Given the description of an element on the screen output the (x, y) to click on. 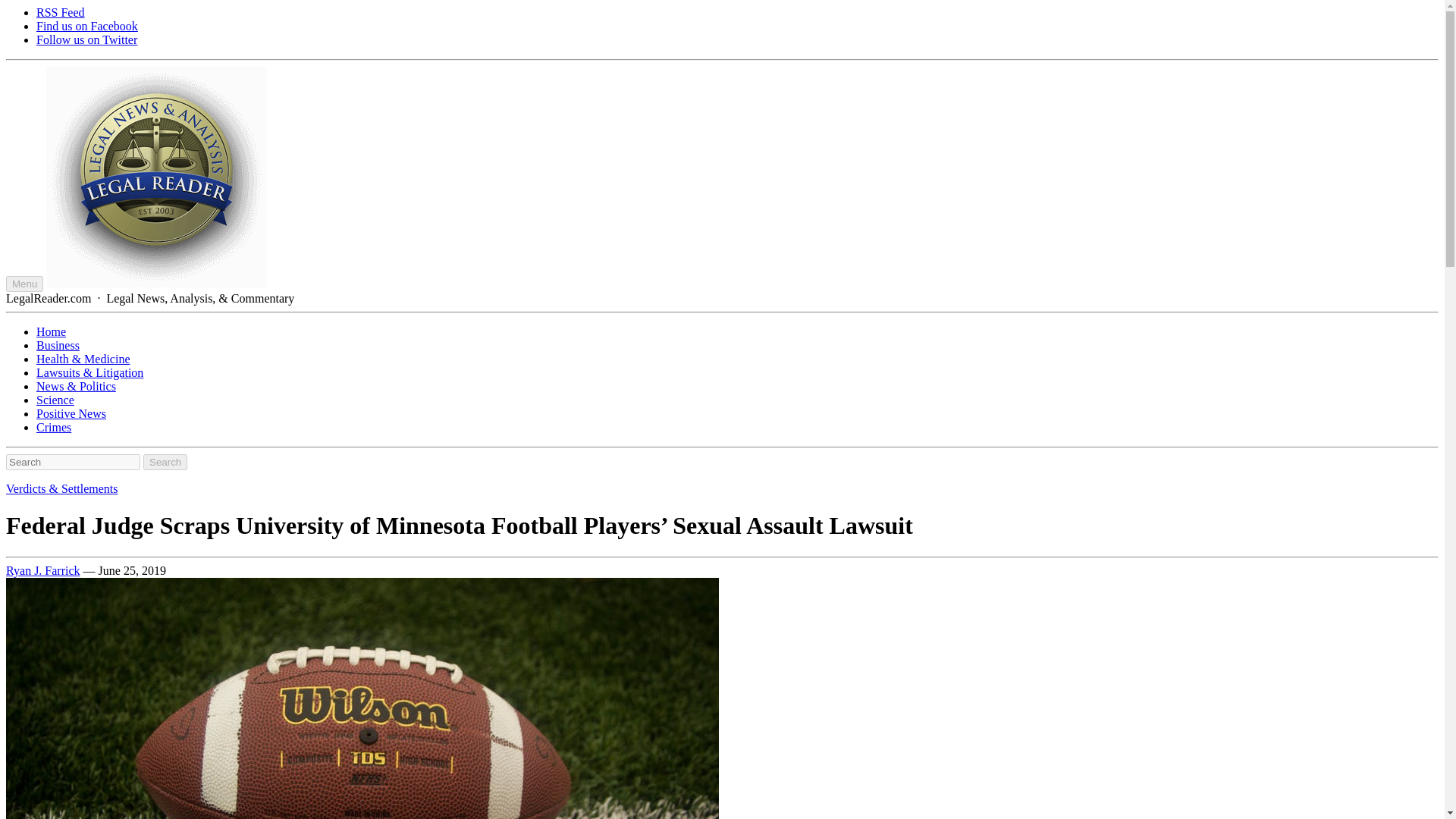
Follow us on Twitter (86, 39)
Menu (24, 283)
Search (164, 462)
Positive News (71, 413)
Follow Legal Reader on Twitter (86, 39)
Science (55, 399)
Ryan J. Farrick (42, 570)
RSS Feed (60, 11)
Find us on Facebook (87, 25)
Positive News (71, 413)
Home (50, 331)
Posts by Ryan J. Farrick (42, 570)
Home (50, 331)
Find Legal Reader on Facebook (87, 25)
Science (55, 399)
